Given the description of an element on the screen output the (x, y) to click on. 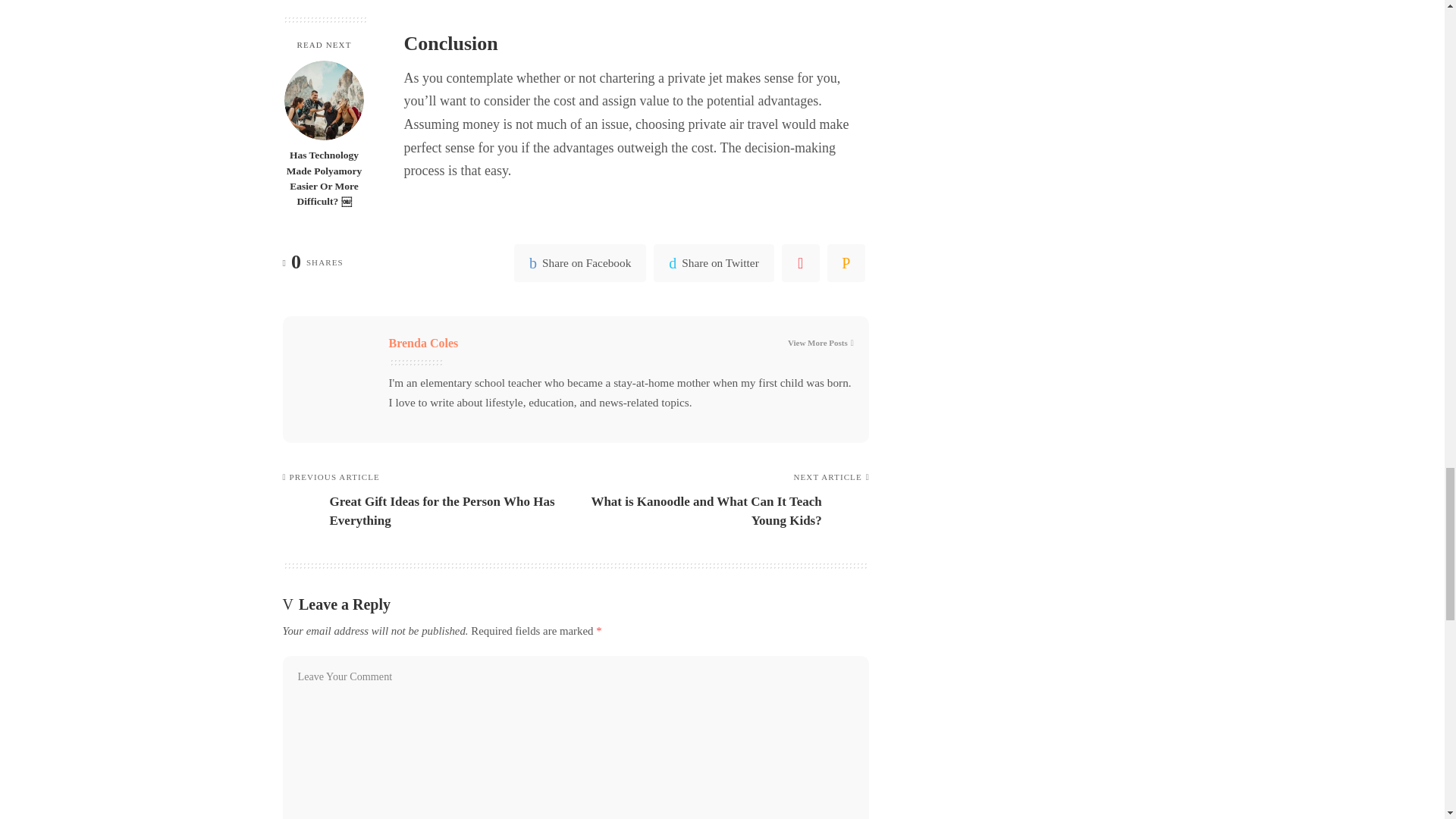
Pinterest (800, 262)
Email (845, 262)
Twitter (713, 262)
Facebook (579, 262)
